Given the description of an element on the screen output the (x, y) to click on. 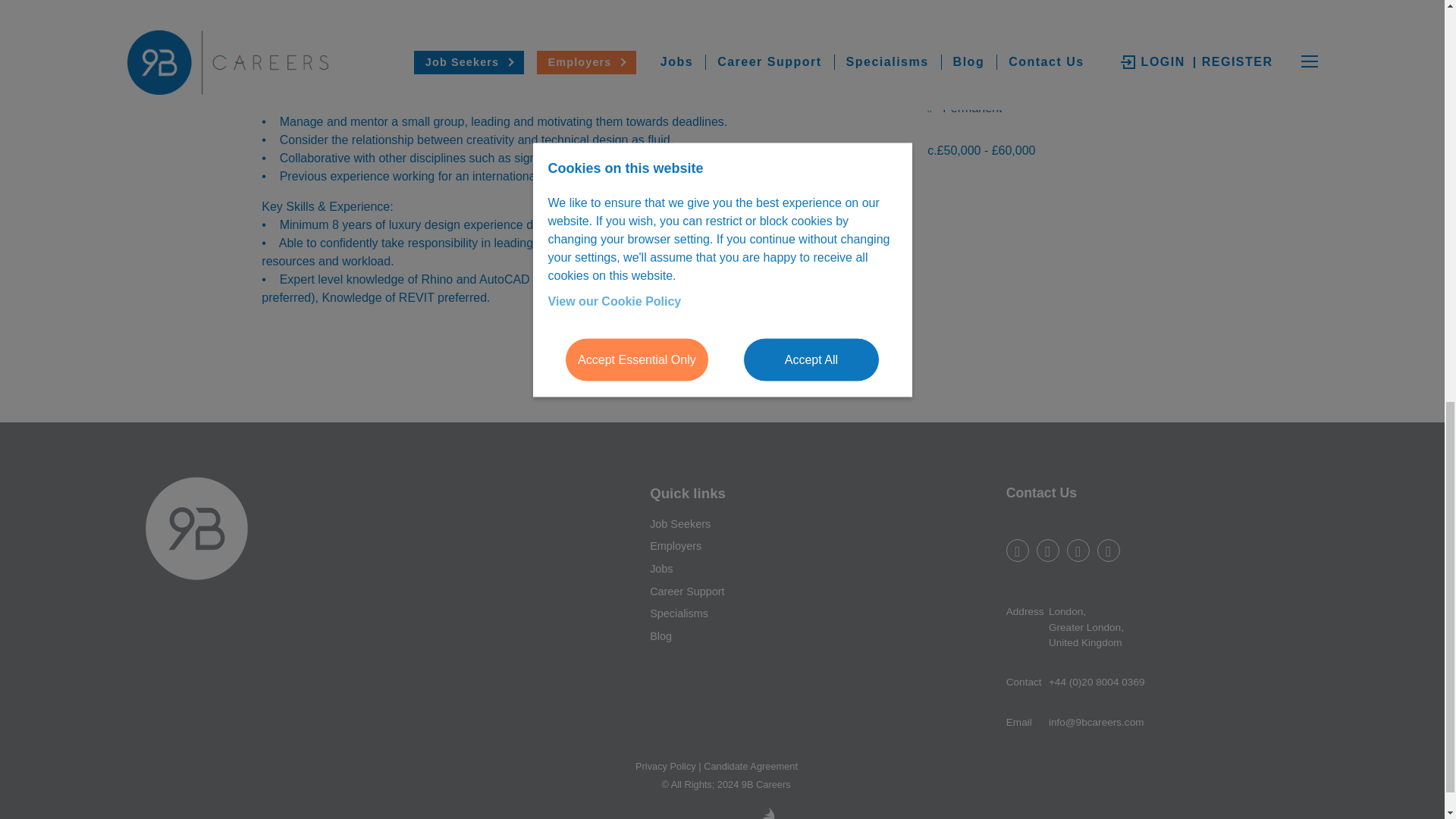
Recruitment Software - Firefish Software (727, 812)
Recruitment Software - Firefish Software (766, 812)
Back (626, 369)
Apply (759, 369)
Recruitment Software - Firefish Software (727, 812)
